Given the description of an element on the screen output the (x, y) to click on. 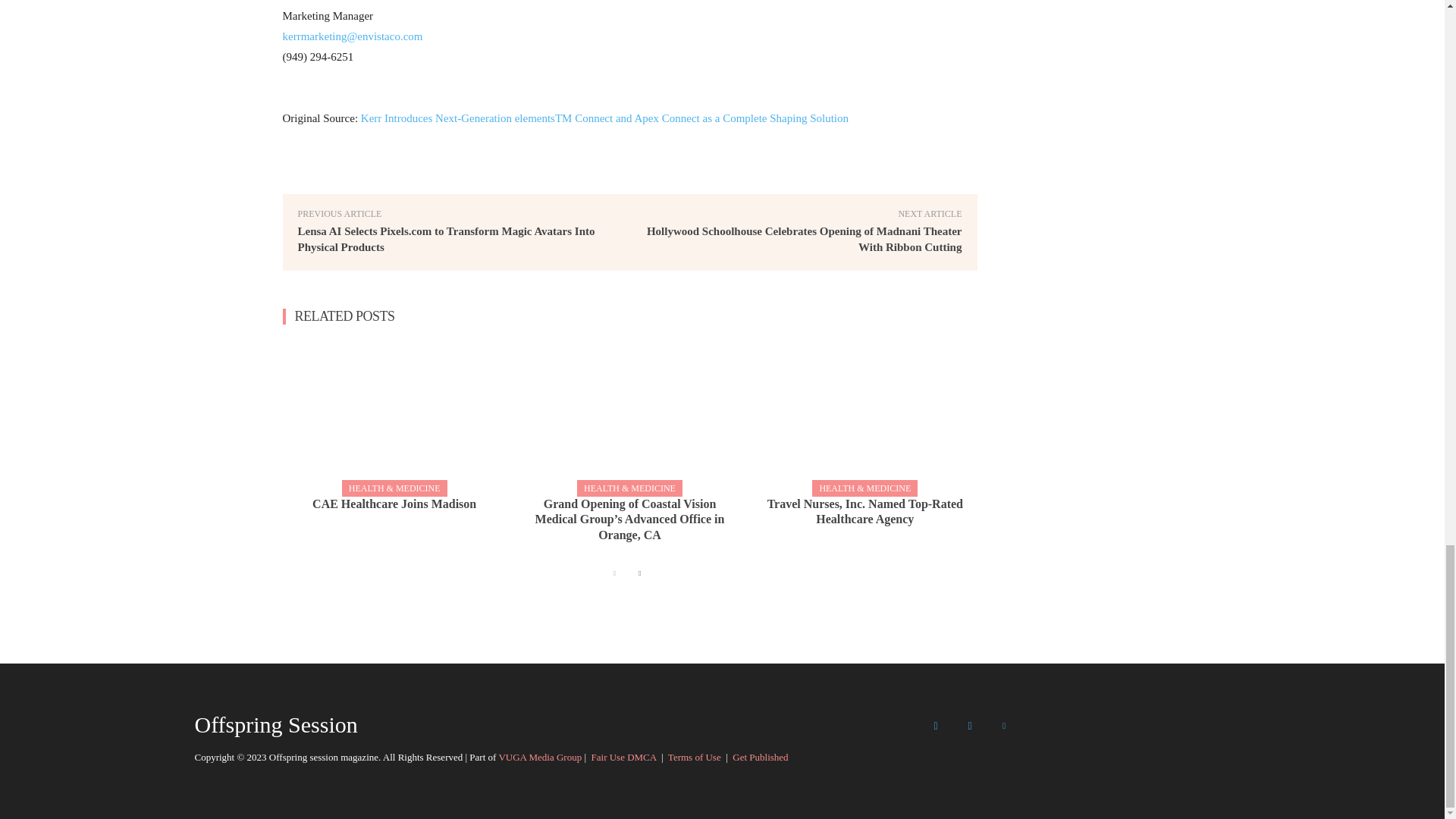
CAE Healthcare Joins Madison (394, 503)
